Given the description of an element on the screen output the (x, y) to click on. 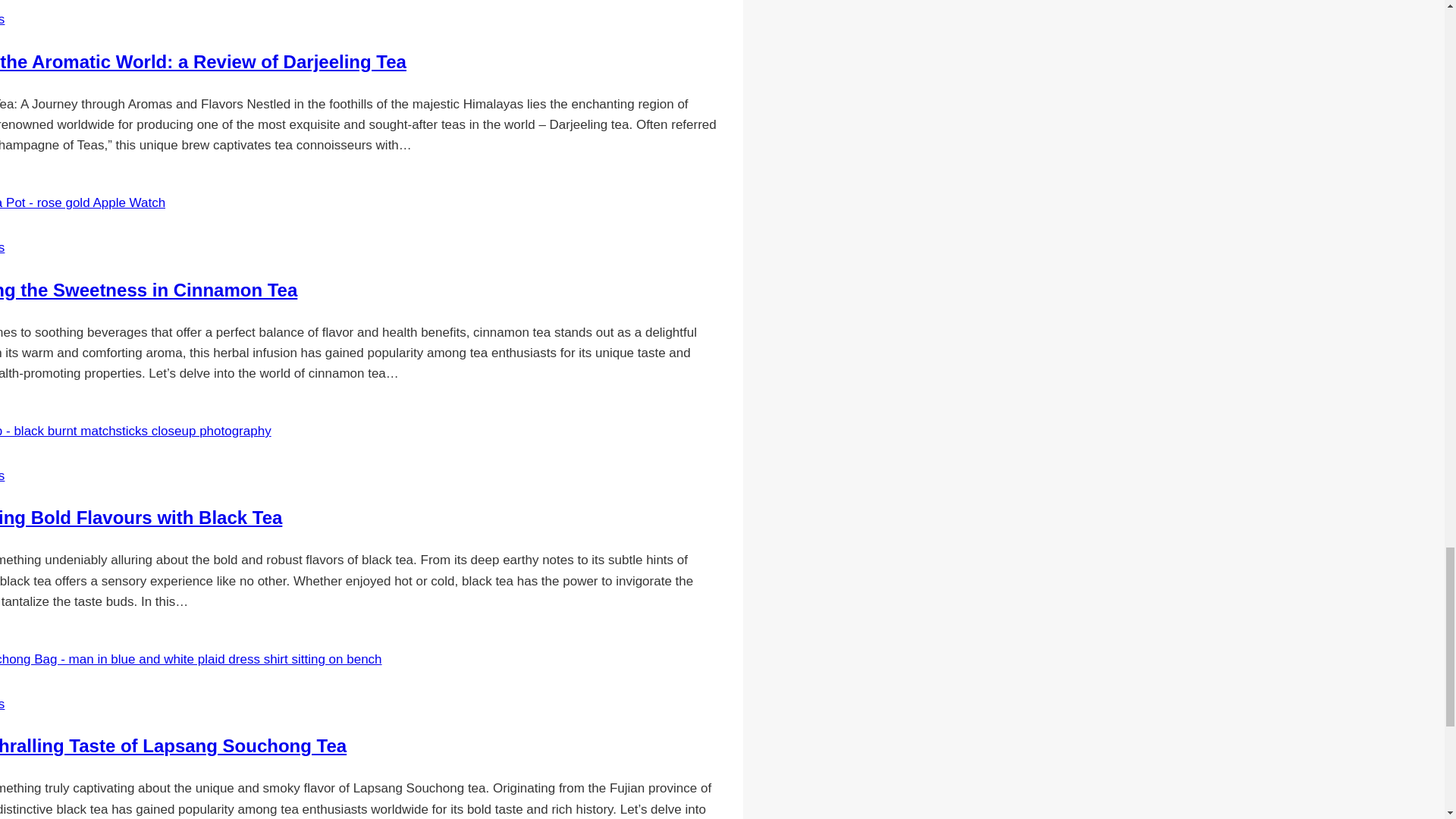
Tasting the Aromatic World: a Review of Darjeeling Tea (203, 61)
The Enthralling Taste of Lapsang Souchong Tea (173, 745)
Embracing Bold Flavours with Black Tea (141, 516)
Exploring the Sweetness in Cinnamon Tea (148, 289)
